Given the description of an element on the screen output the (x, y) to click on. 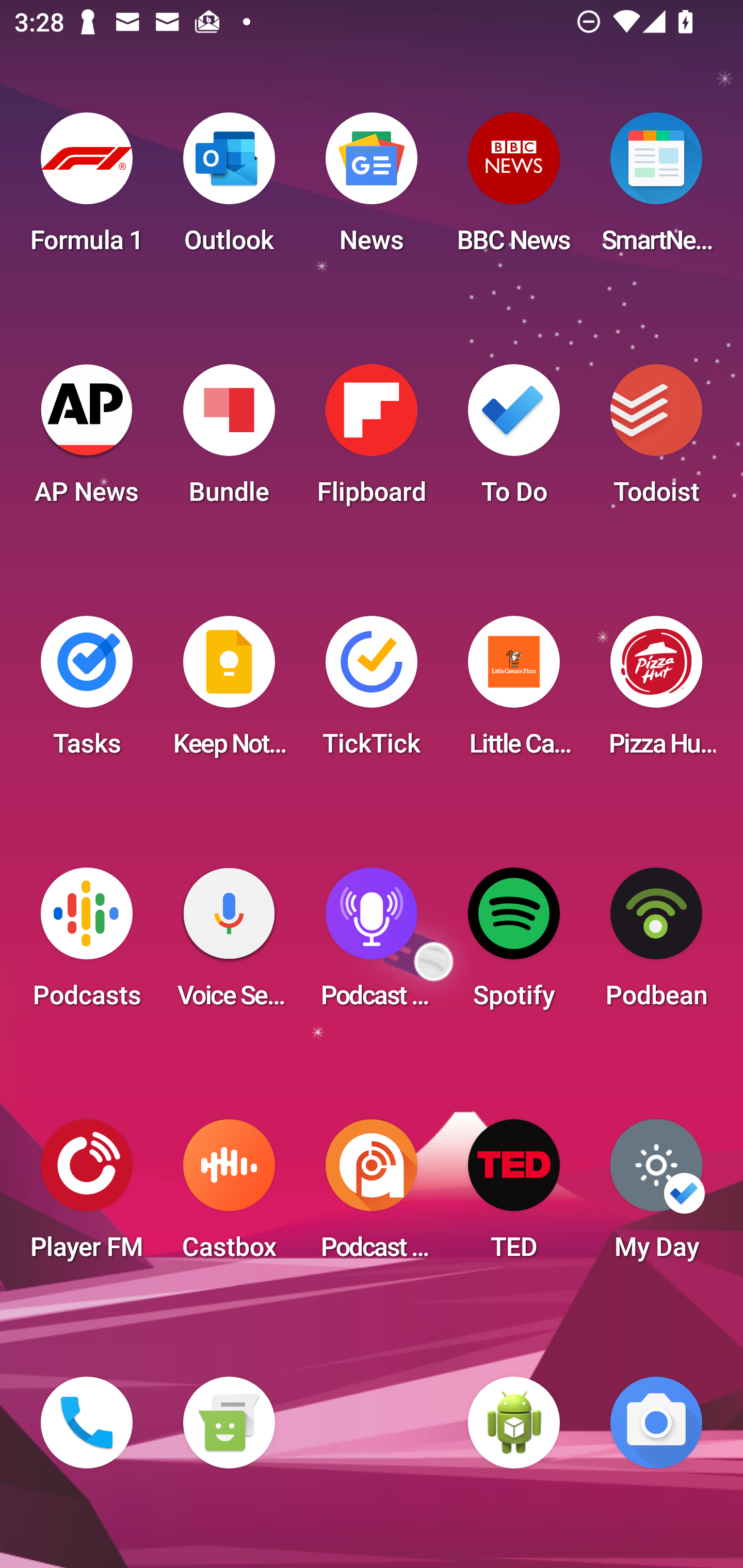
Formula 1 (86, 188)
Outlook (228, 188)
News (371, 188)
BBC News (513, 188)
SmartNews (656, 188)
AP News (86, 440)
Bundle (228, 440)
Flipboard (371, 440)
To Do (513, 440)
Todoist (656, 440)
Tasks (86, 692)
Keep Notes (228, 692)
TickTick (371, 692)
Little Caesars Pizza (513, 692)
Pizza Hut HK & Macau (656, 692)
Podcasts (86, 943)
Voice Search (228, 943)
Podcast Player (371, 943)
Spotify (513, 943)
Podbean (656, 943)
Player FM (86, 1195)
Castbox (228, 1195)
Podcast Addict (371, 1195)
TED (513, 1195)
My Day (656, 1195)
Phone (86, 1422)
Messaging (228, 1422)
WebView Browser Tester (513, 1422)
Camera (656, 1422)
